Given the description of an element on the screen output the (x, y) to click on. 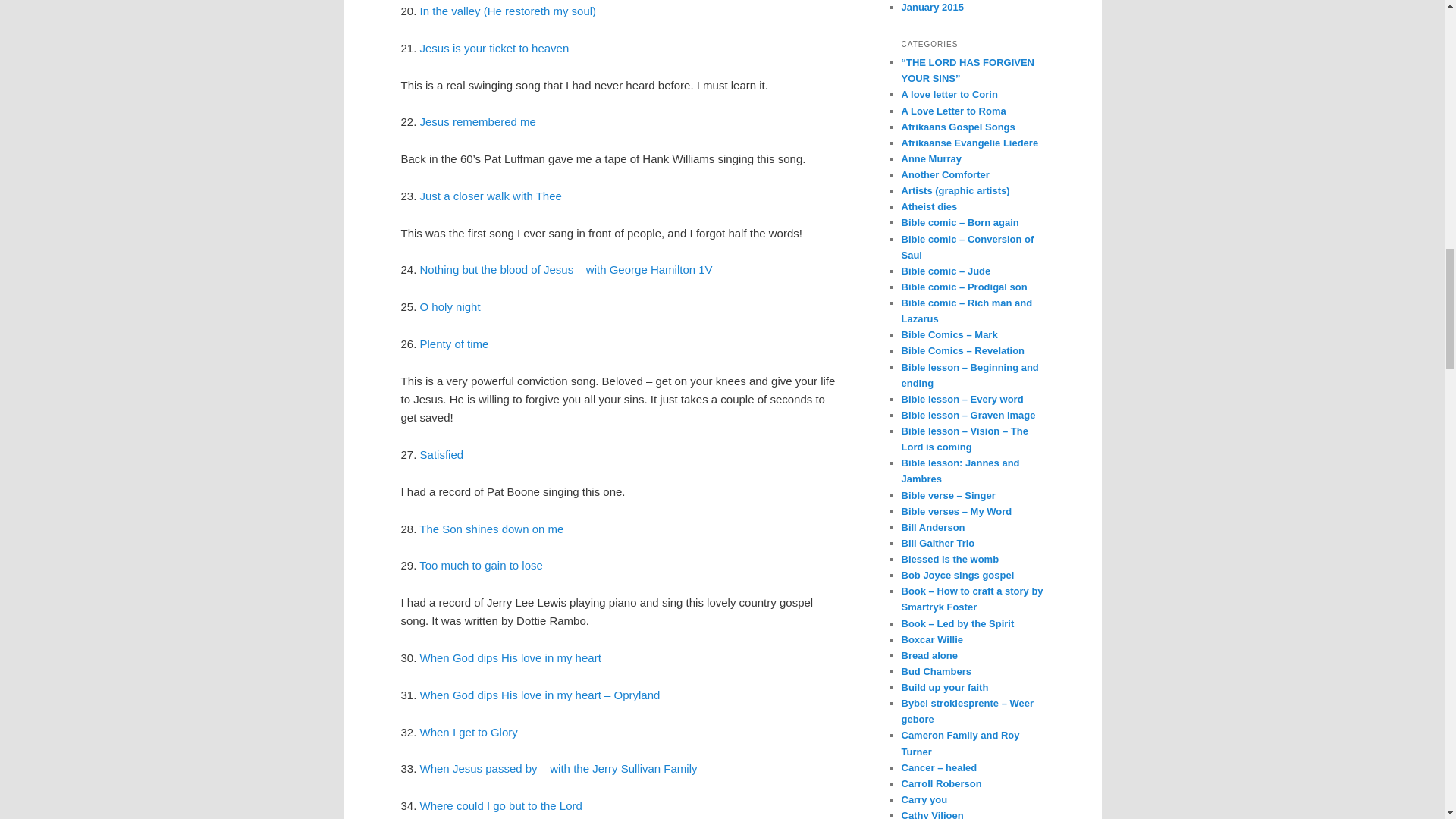
Jesus remembered me (477, 121)
Plenty of time (454, 343)
Just a closer walk with Thee (491, 195)
Too much to gain to lose (481, 564)
Satisfied (442, 454)
O holy night (450, 306)
When God dips His love in my heart (510, 657)
The Son shines down on me (491, 528)
Jesus is your ticket to heaven (494, 47)
